Given the description of an element on the screen output the (x, y) to click on. 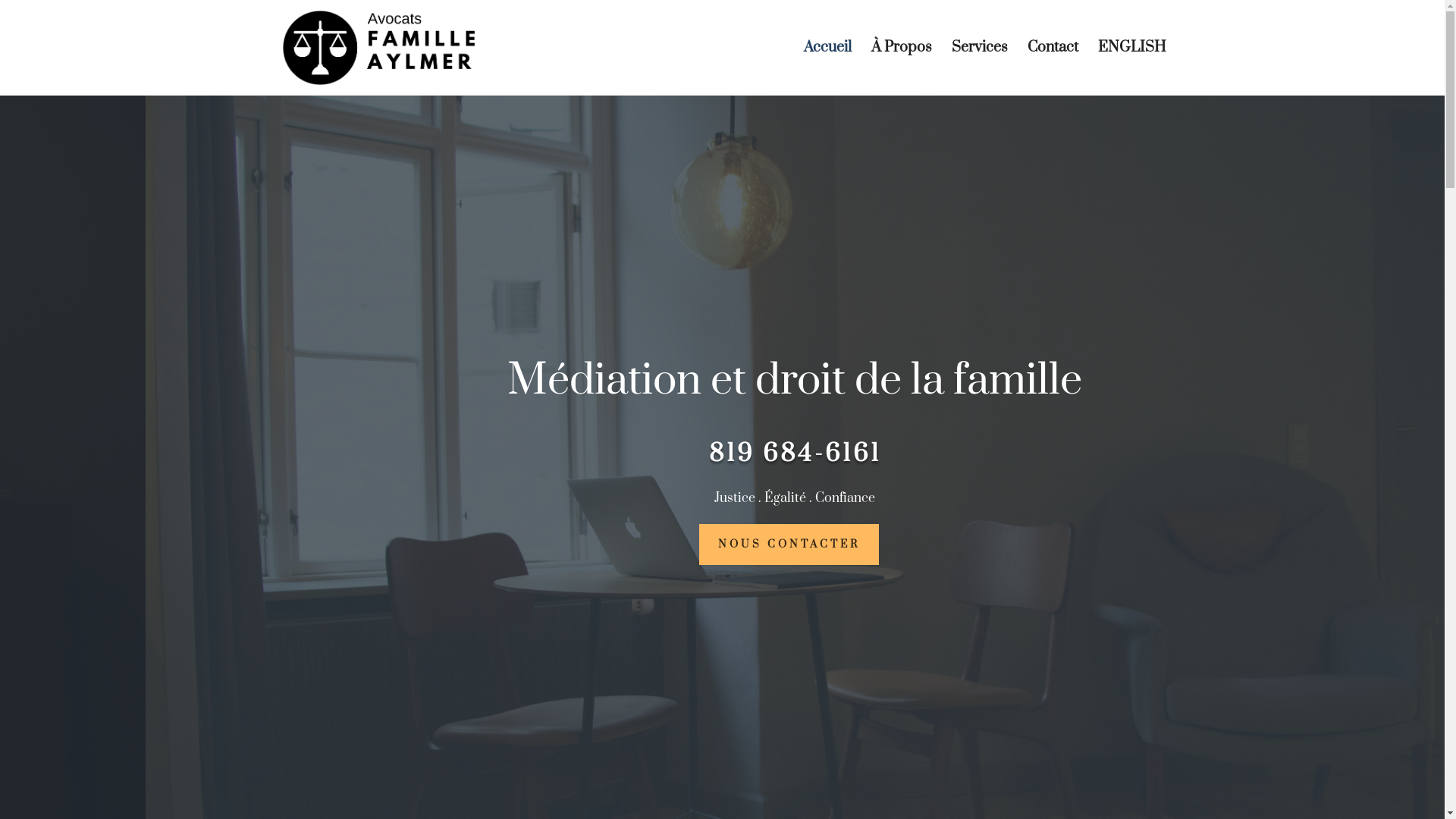
ENGLISH Element type: text (1132, 68)
NOUS CONTACTER Element type: text (788, 544)
Contact Element type: text (1051, 68)
Accueil Element type: text (827, 68)
Services Element type: text (978, 68)
